Given the description of an element on the screen output the (x, y) to click on. 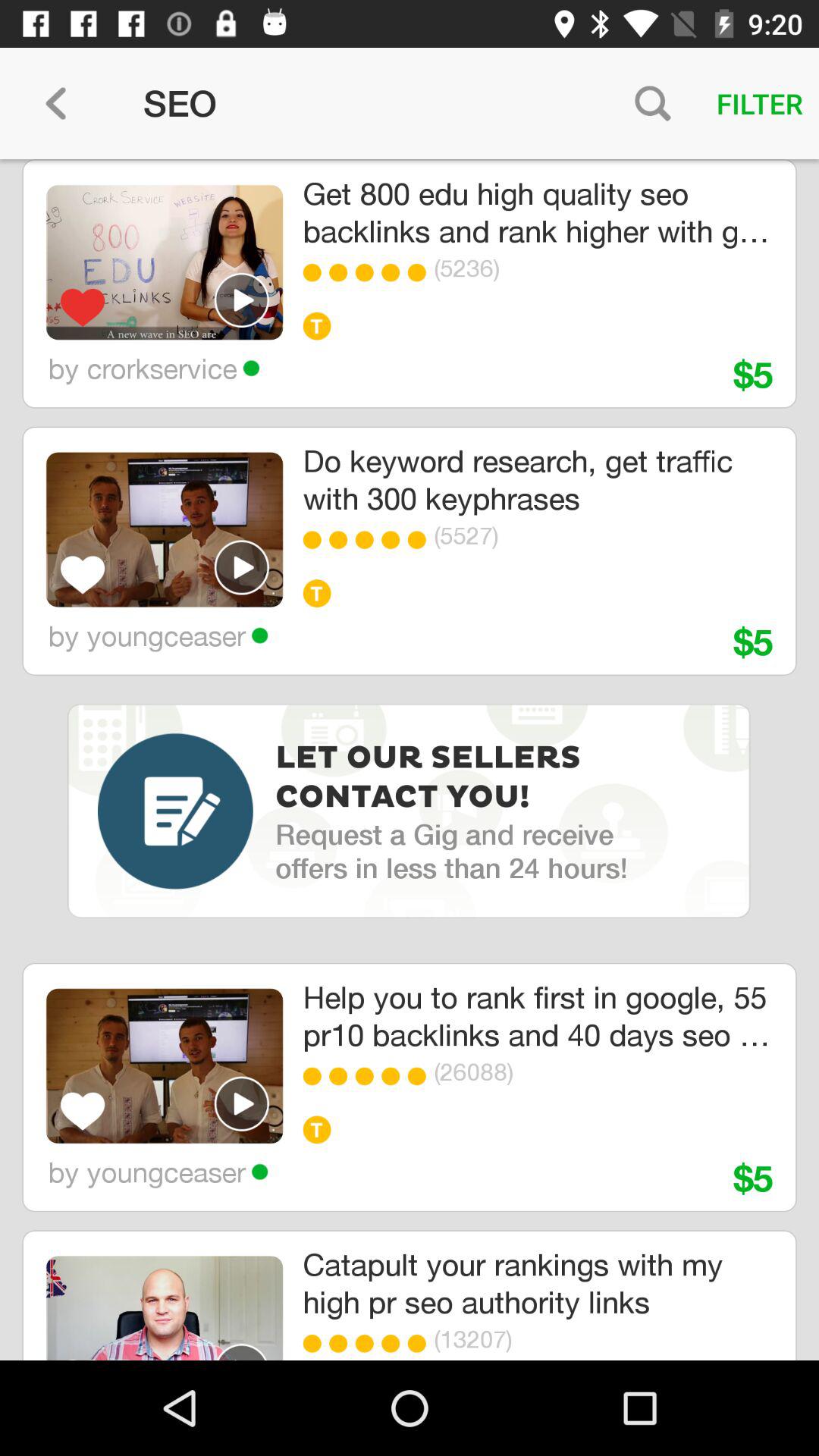
play video (242, 566)
